Given the description of an element on the screen output the (x, y) to click on. 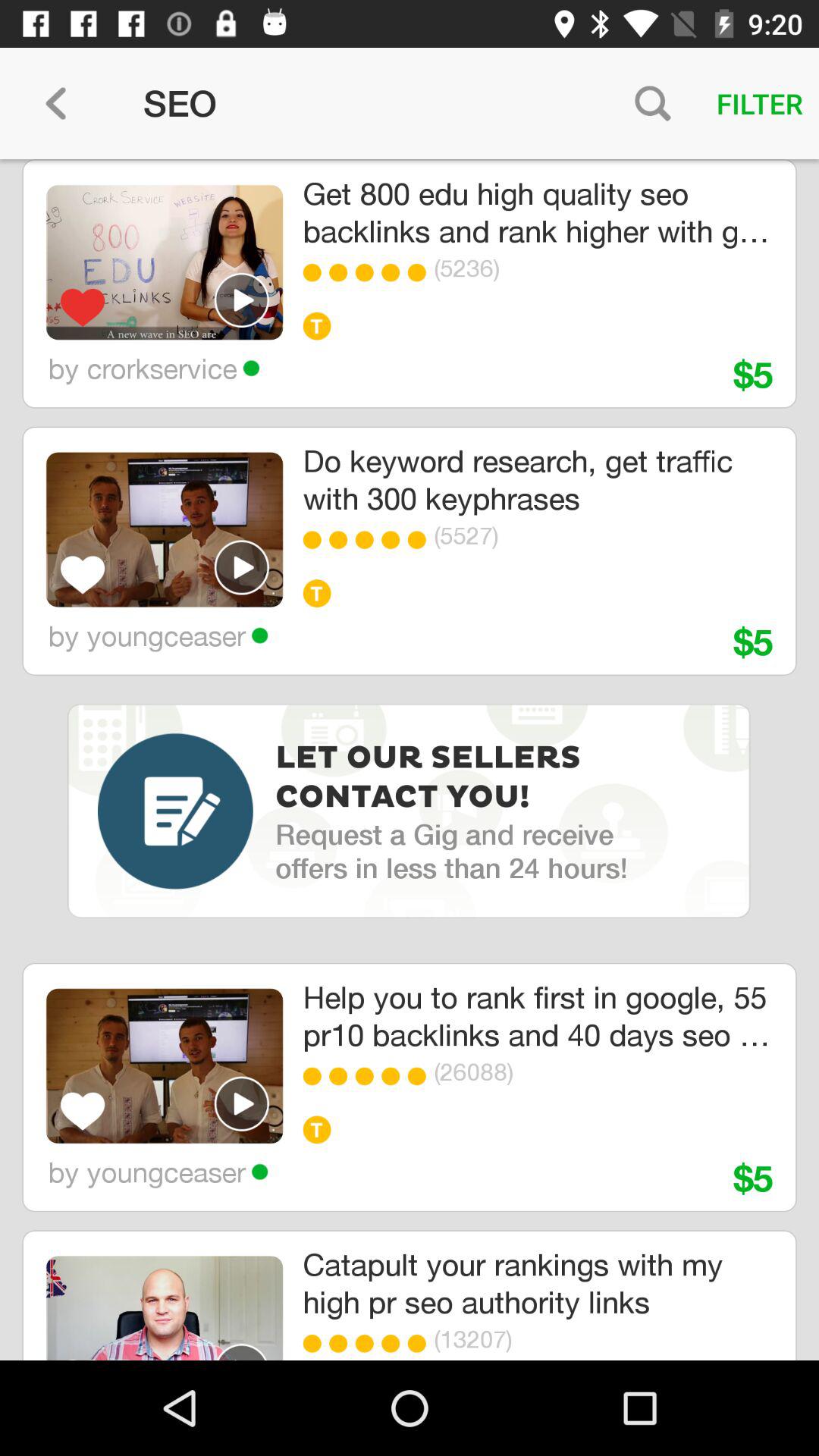
play video (242, 566)
